Given the description of an element on the screen output the (x, y) to click on. 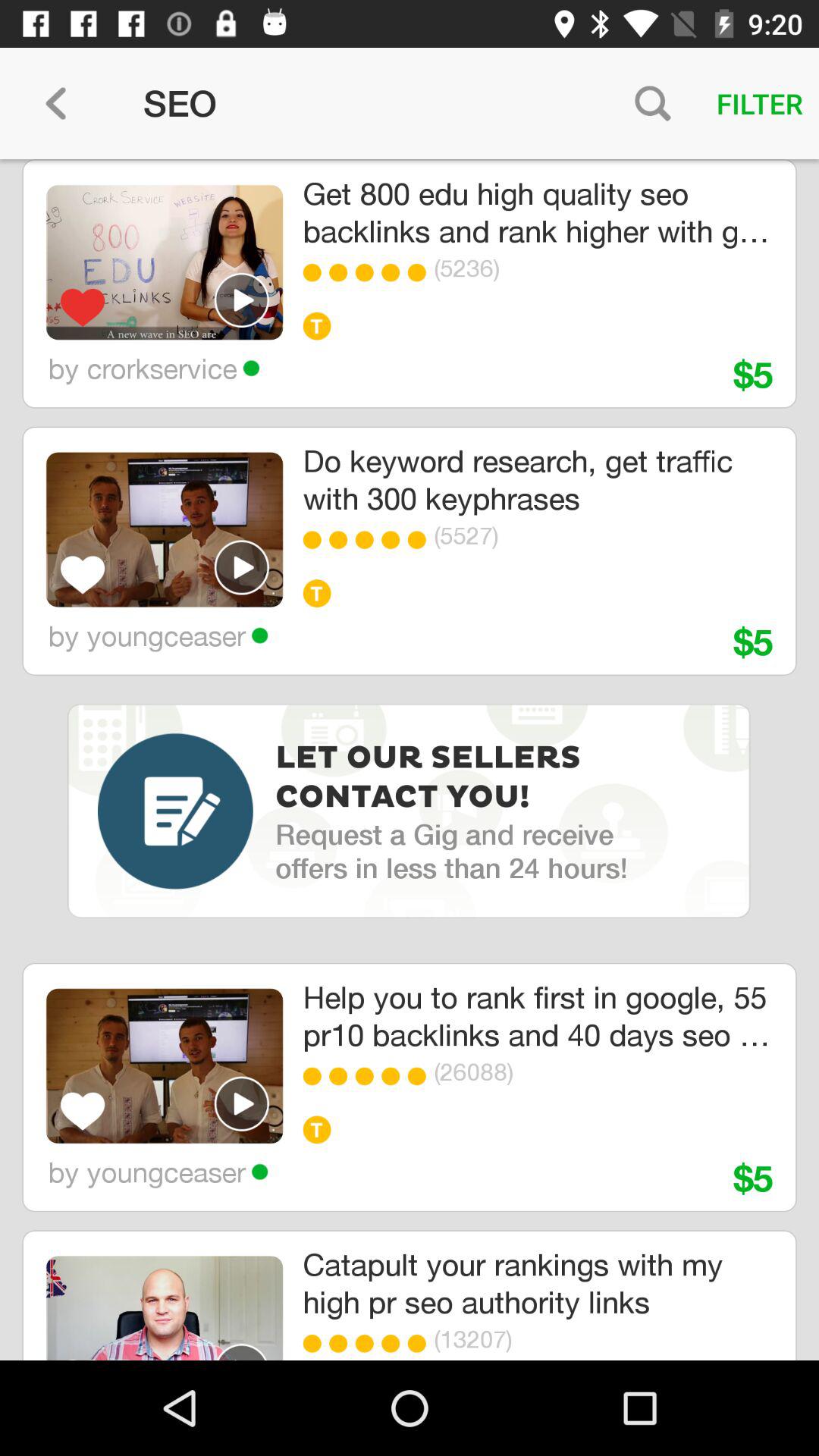
play video (242, 566)
